Given the description of an element on the screen output the (x, y) to click on. 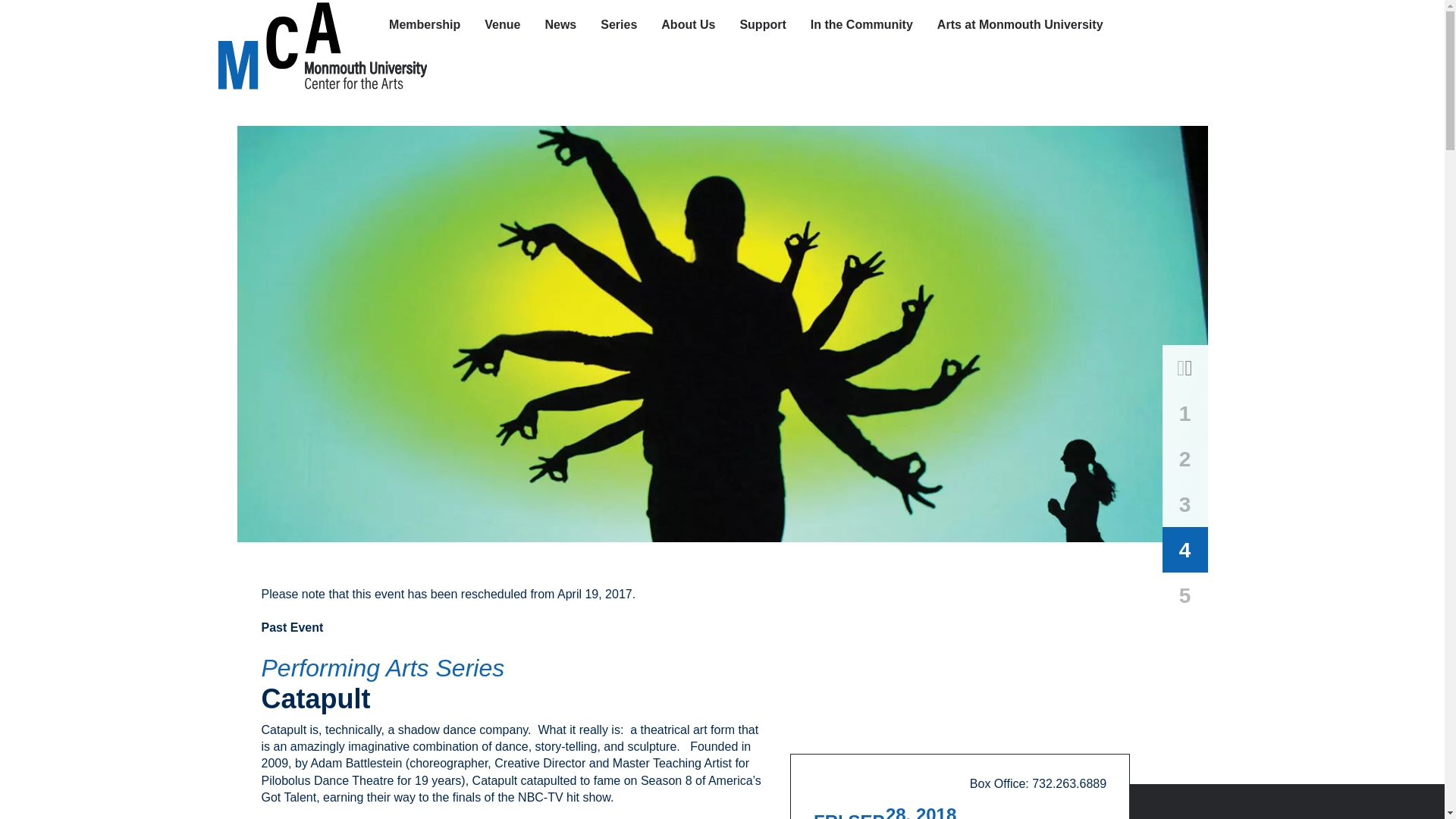
About Us (687, 24)
Performing Arts Series (512, 668)
5 (1184, 595)
Series (630, 24)
Venue (501, 24)
Arts at Monmouth University (1032, 24)
Membership (436, 24)
In the Community (873, 24)
2 (1184, 458)
News (572, 24)
4 (1184, 549)
Support (774, 24)
3 (1184, 504)
1 (1184, 412)
